Given the description of an element on the screen output the (x, y) to click on. 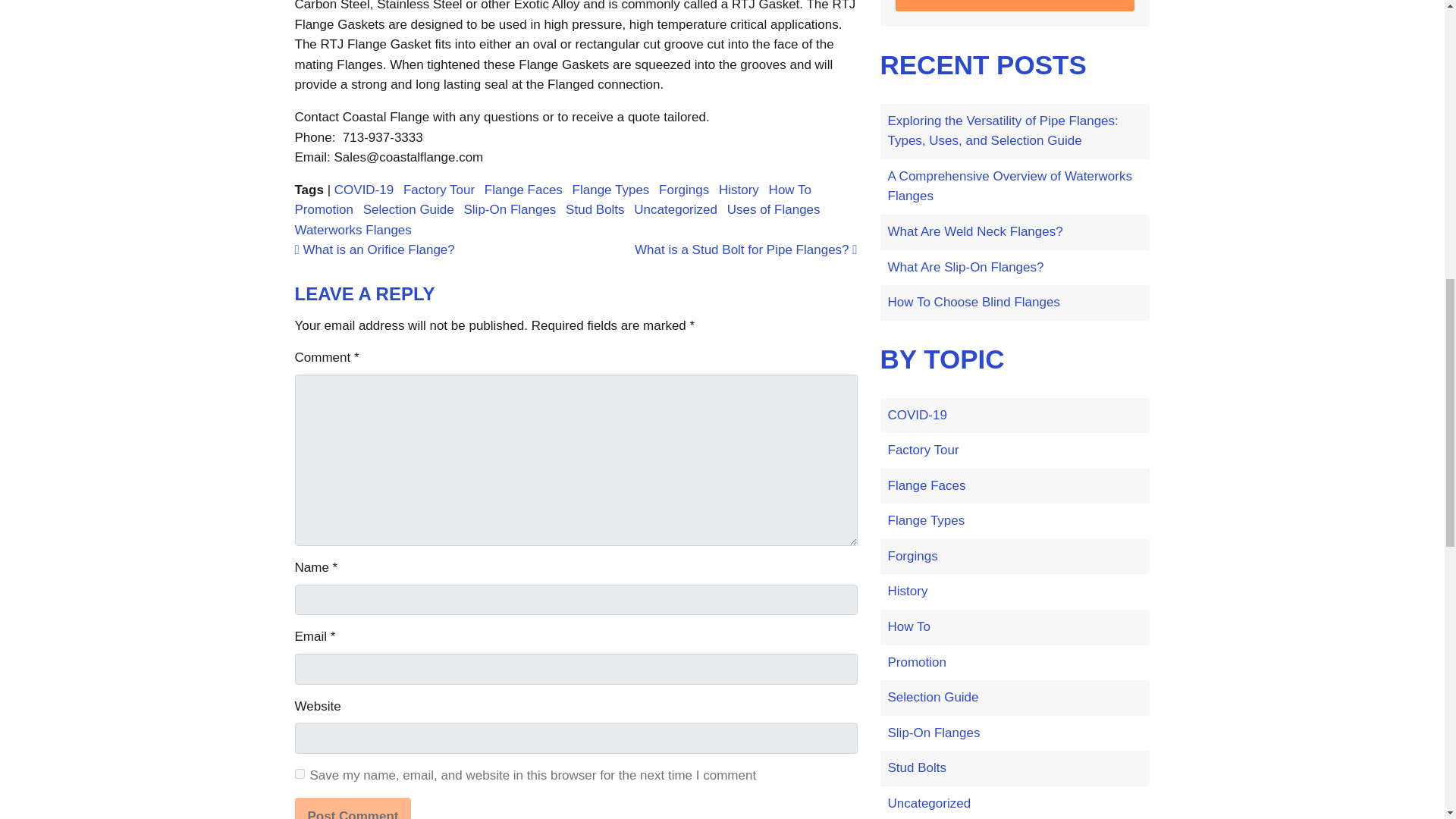
Submit (1014, 5)
yes (299, 773)
Post Comment (352, 808)
